Given the description of an element on the screen output the (x, y) to click on. 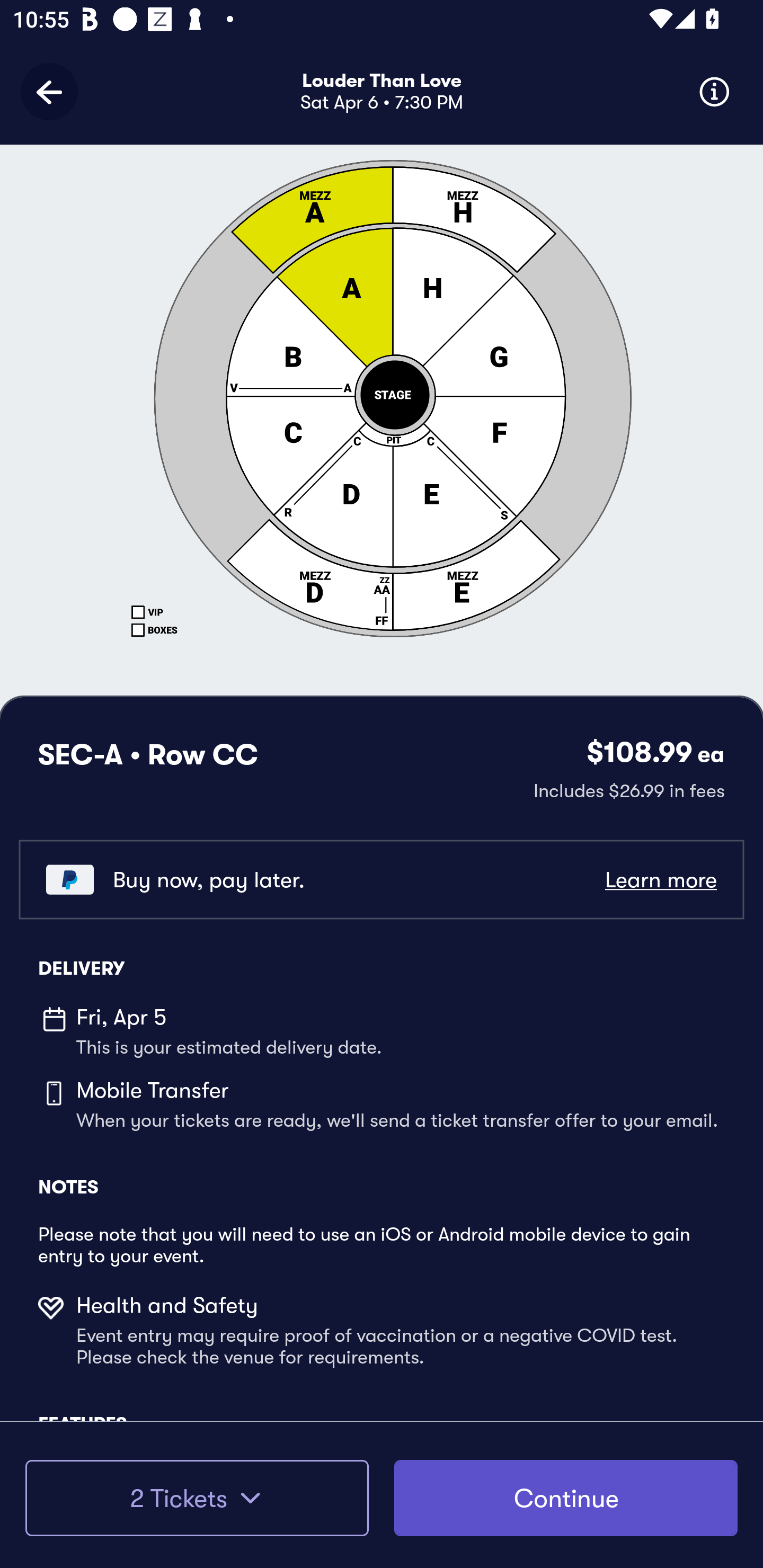
Learn more (660, 880)
2 Tickets (196, 1497)
Continue (565, 1497)
